Given the description of an element on the screen output the (x, y) to click on. 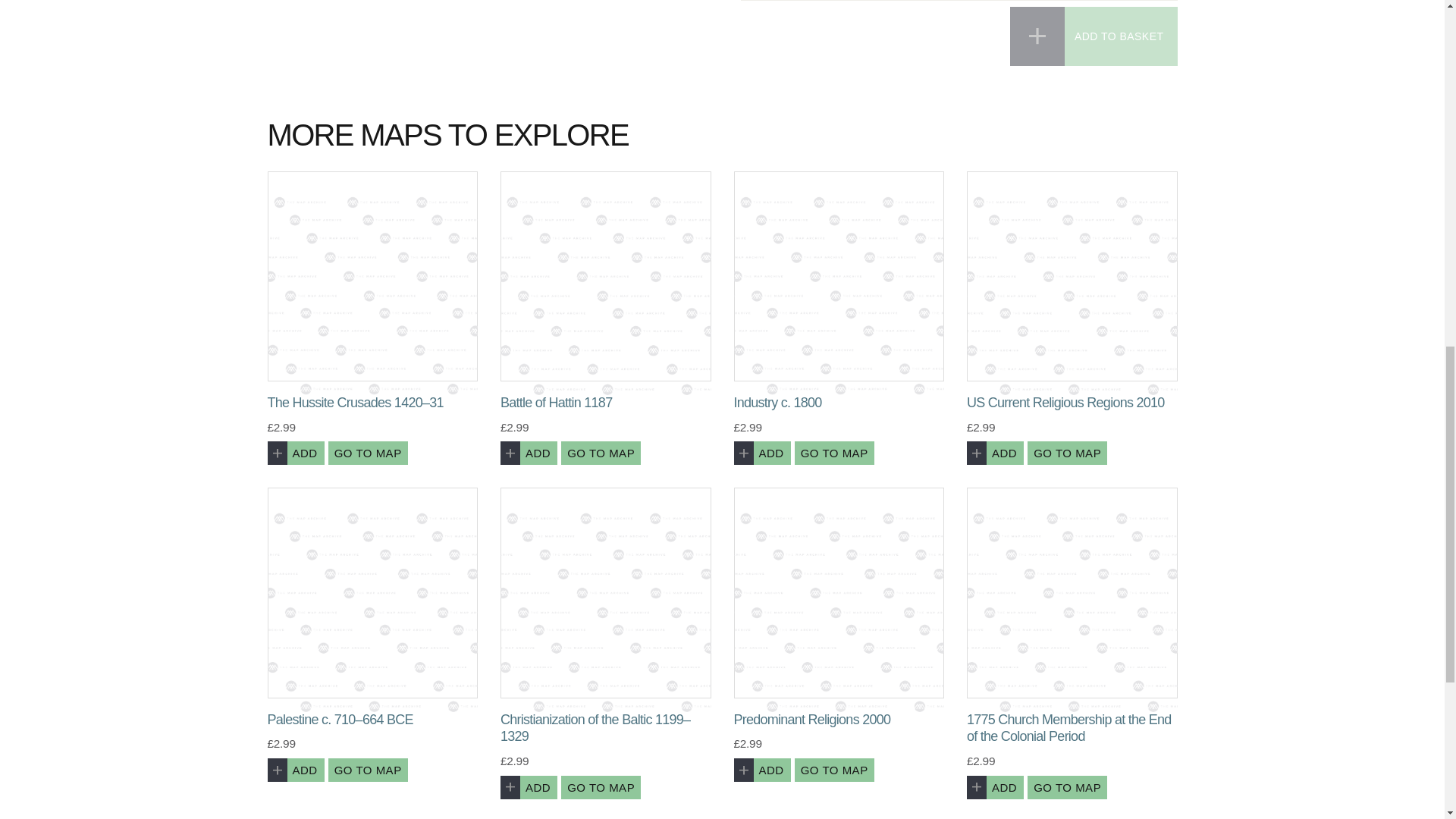
1775 Church Membership at the End of the Colonial Period (1071, 592)
US Current Religious Regions 2010 (1071, 276)
Battle of Hattin 1187 (605, 276)
Predominant Religions 2000 (838, 592)
Industry c. 1800 (838, 276)
